Given the description of an element on the screen output the (x, y) to click on. 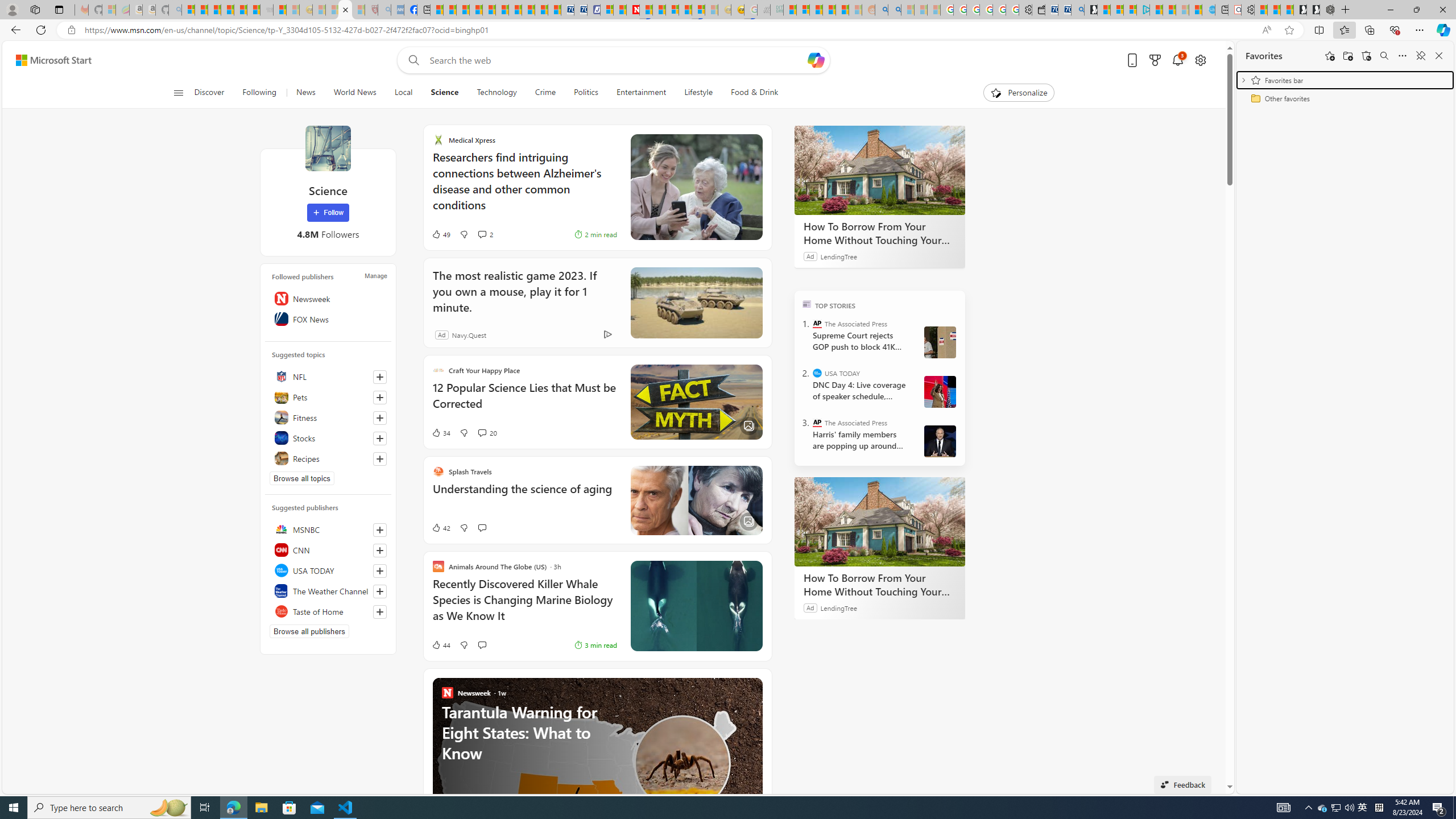
New Report Confirms 2023 Was Record Hot | Watch (239, 9)
Microsoft Start Gaming (1090, 9)
Navy Quest (763, 9)
Combat Siege - Sleeping (266, 9)
Close favorites (1439, 55)
Unpin favorites (1420, 55)
Wallet (1037, 9)
